Given the description of an element on the screen output the (x, y) to click on. 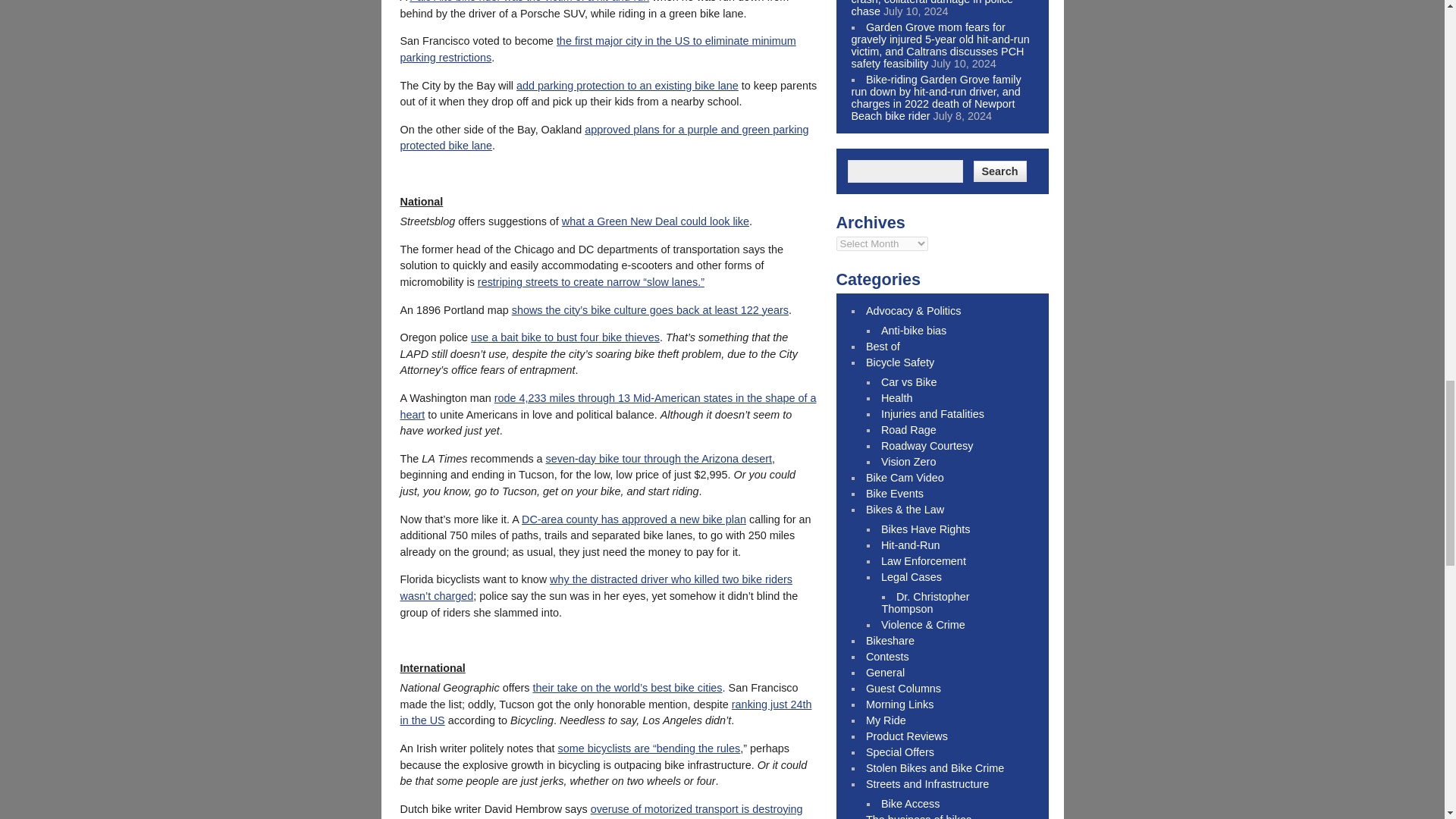
Search (1000, 170)
add parking protection to an existing bike lane (627, 85)
Palo Alto bike rider was the victim of a hit-and-run (529, 1)
